Given the description of an element on the screen output the (x, y) to click on. 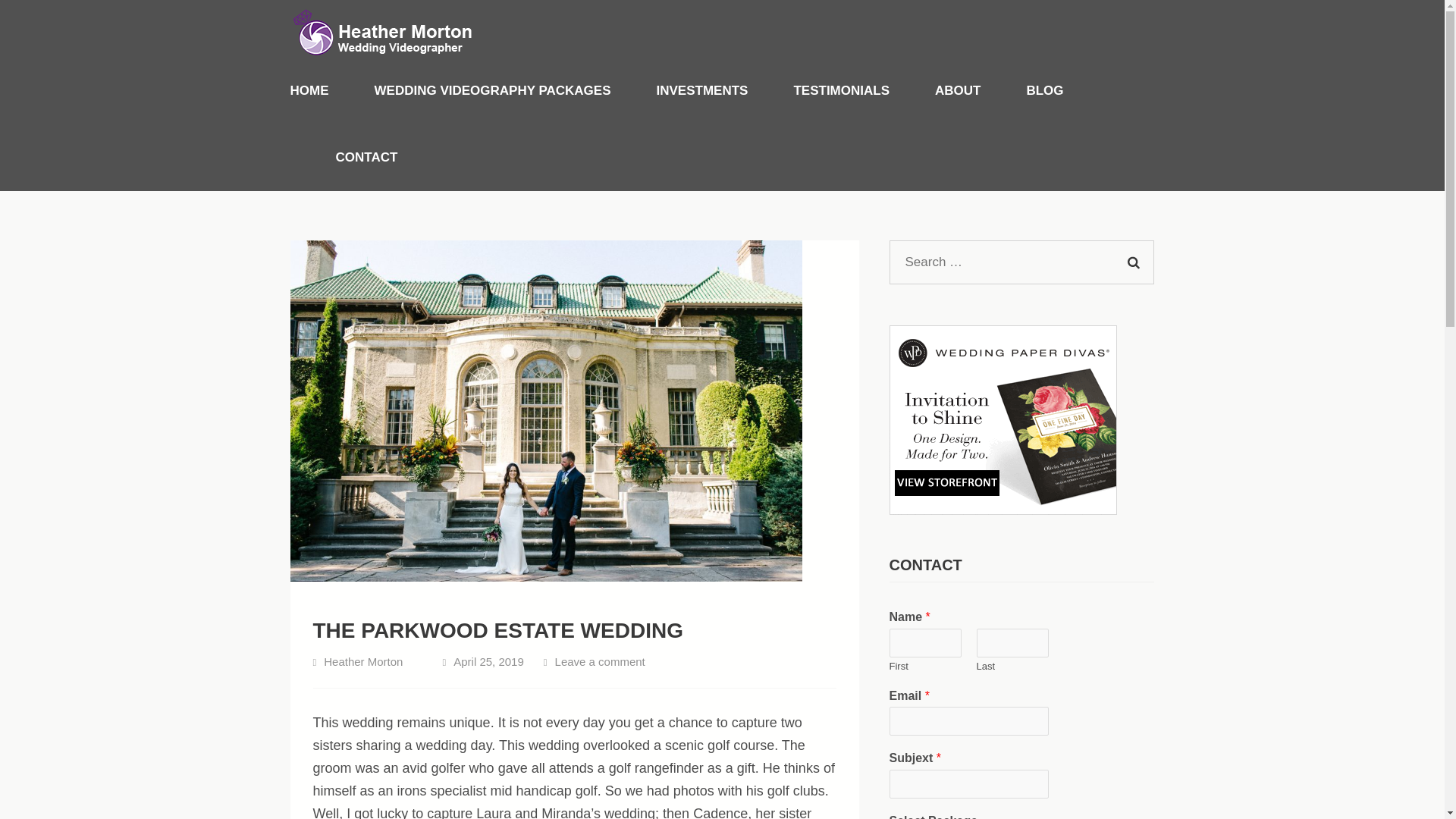
TESTIMONIALS (841, 90)
WEDDING VIDEOGRAPHY PACKAGES (492, 90)
April 25, 2019 (488, 661)
INVESTMENTS (702, 90)
HEATHER MORTON (418, 71)
CONTACT (365, 157)
Leave a comment (599, 661)
Heather Morton (363, 661)
